Given the description of an element on the screen output the (x, y) to click on. 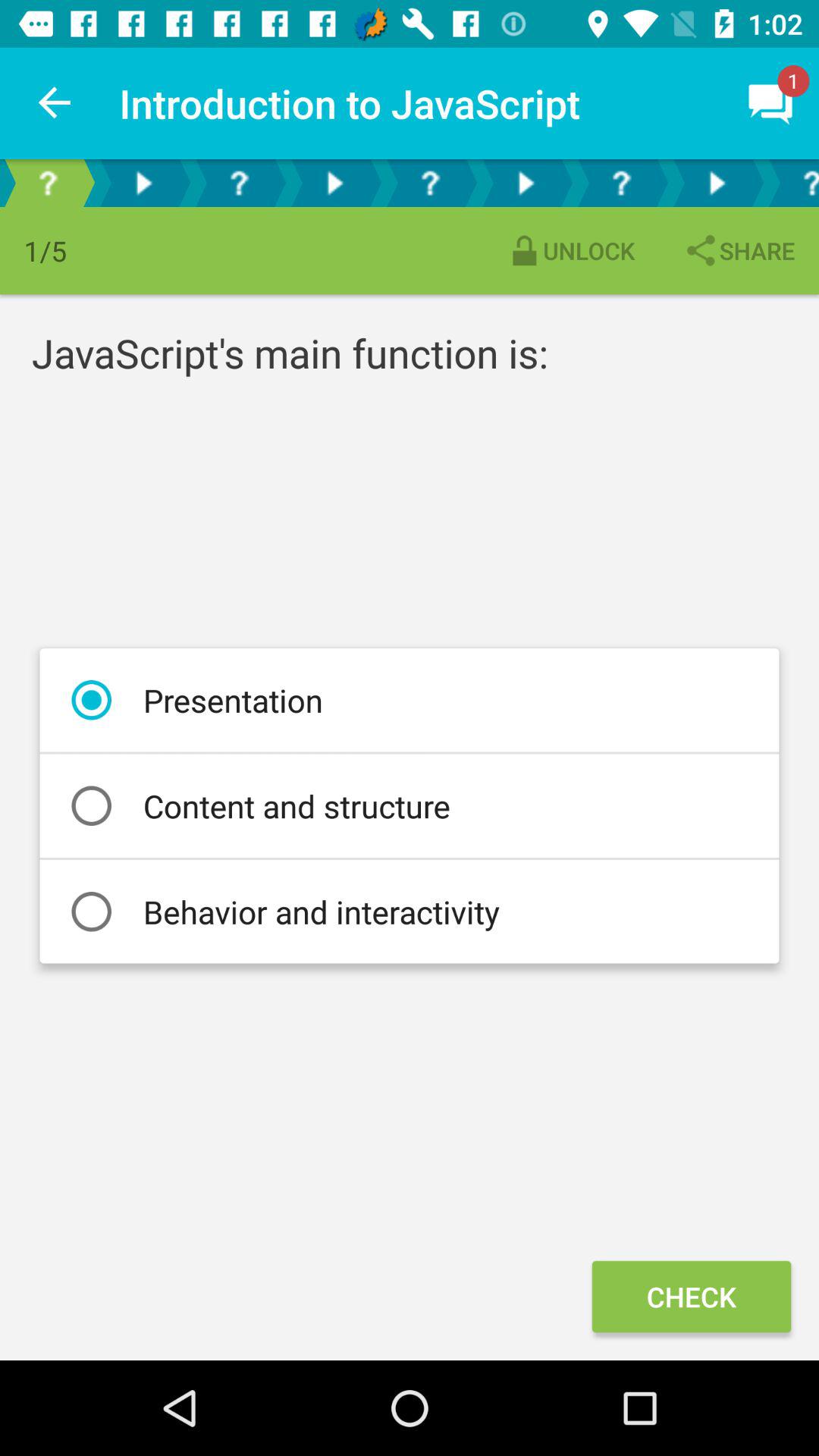
select item next to introduction to javascript item (55, 103)
